Given the description of an element on the screen output the (x, y) to click on. 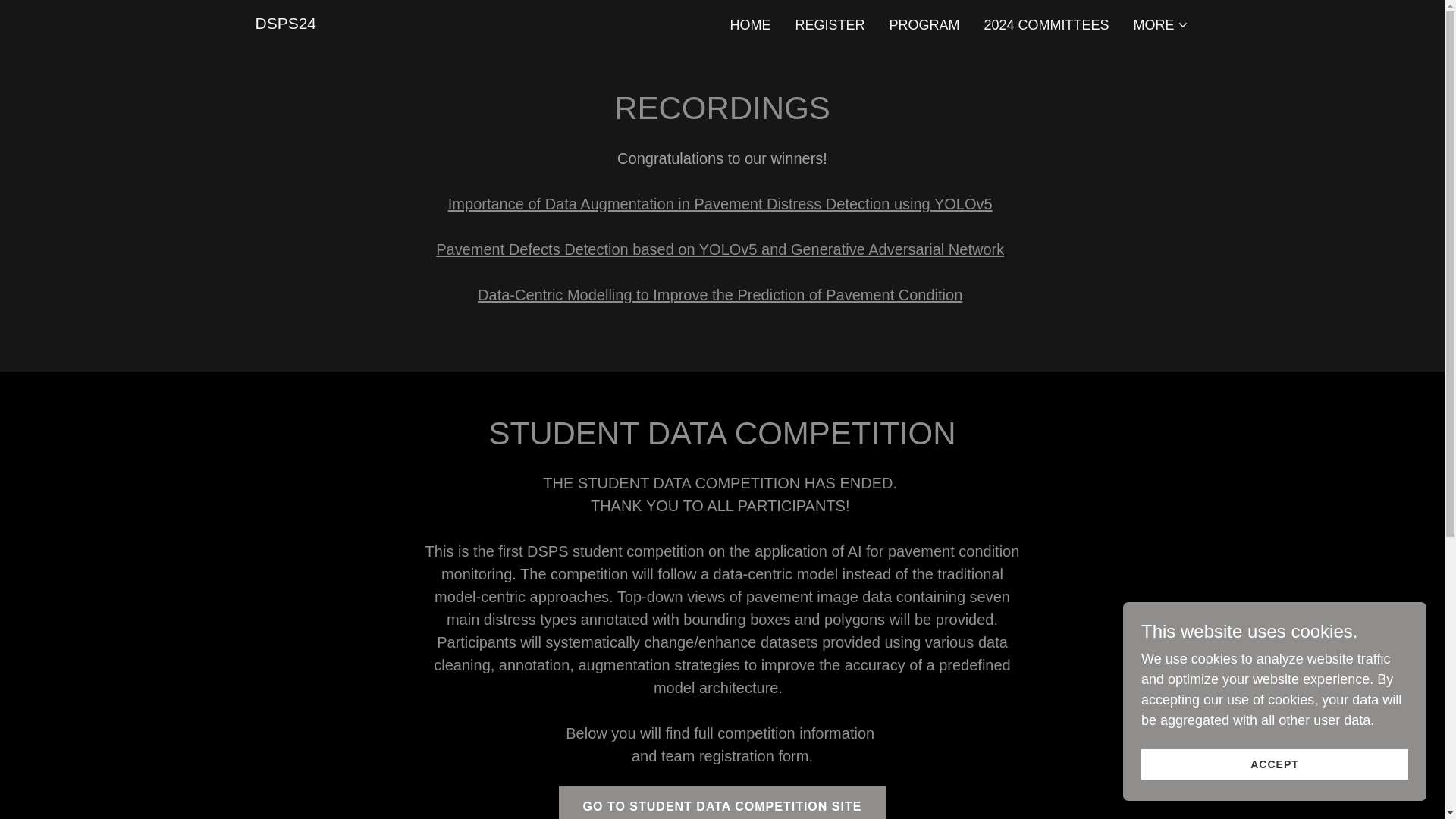
DSPS24  (284, 23)
2024 COMMITTEES (1045, 24)
DSPS24 (284, 23)
MORE (1160, 24)
PROGRAM (923, 24)
REGISTER (829, 24)
HOME (749, 24)
